Given the description of an element on the screen output the (x, y) to click on. 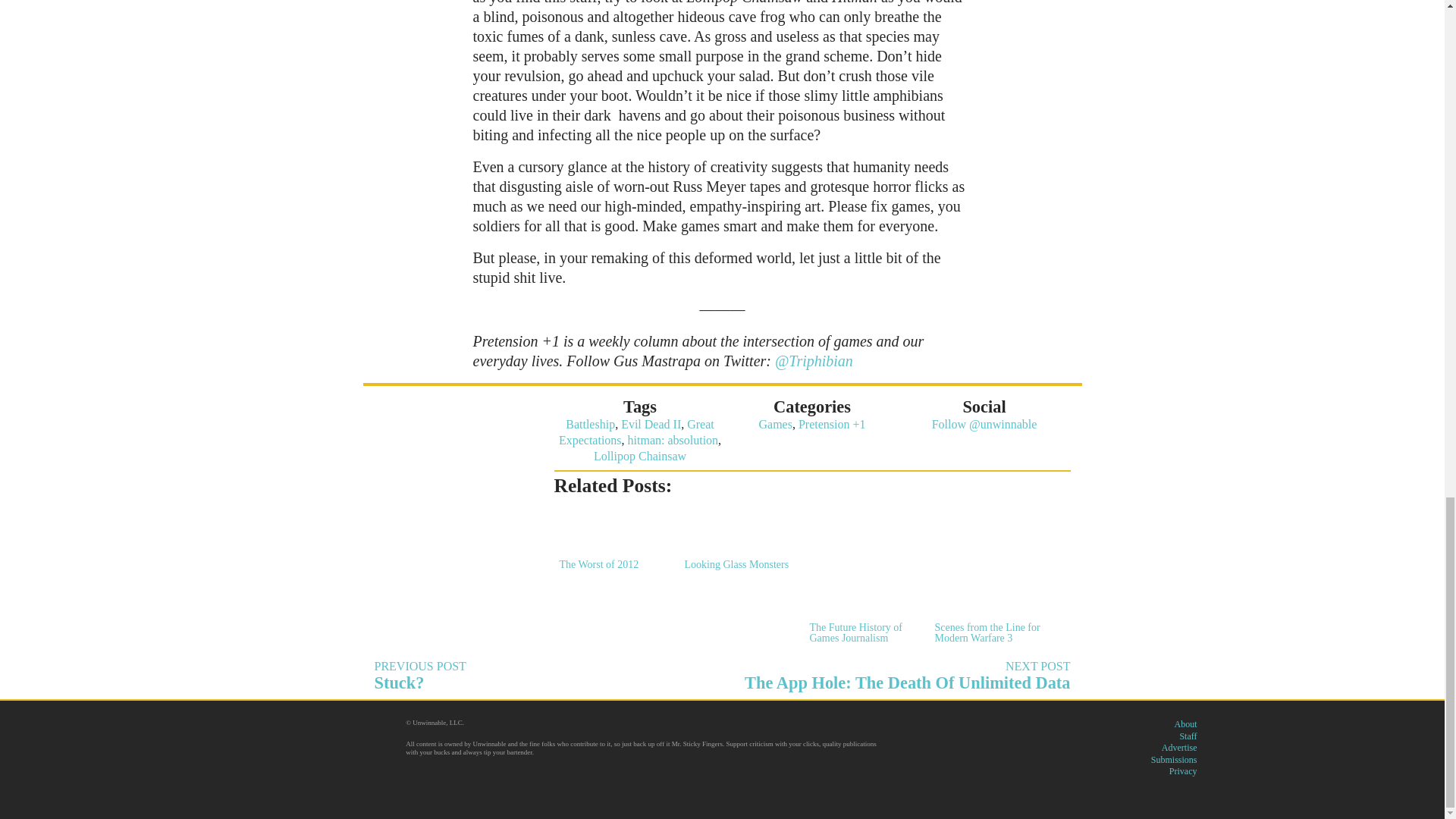
Games (775, 423)
Submissions (542, 675)
The Worst of 2012 (1173, 759)
Looking Glass Monsters (612, 538)
Gus Mastrapa on Twitter (738, 538)
Great Expectations (813, 360)
Lollipop Chainsaw (636, 431)
Evil Dead II (639, 455)
Staff (651, 423)
